Given the description of an element on the screen output the (x, y) to click on. 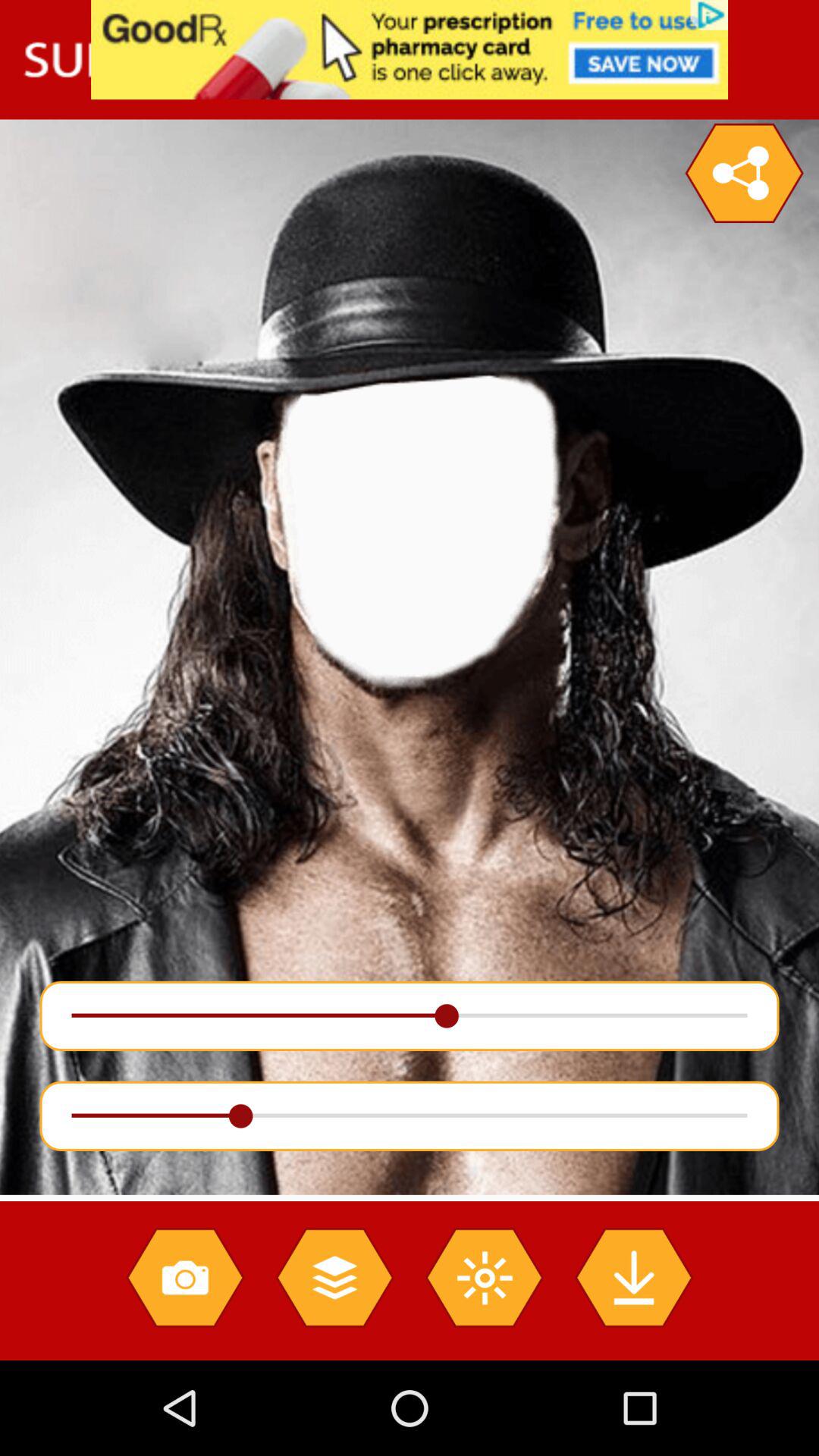
take photo (184, 1277)
